Given the description of an element on the screen output the (x, y) to click on. 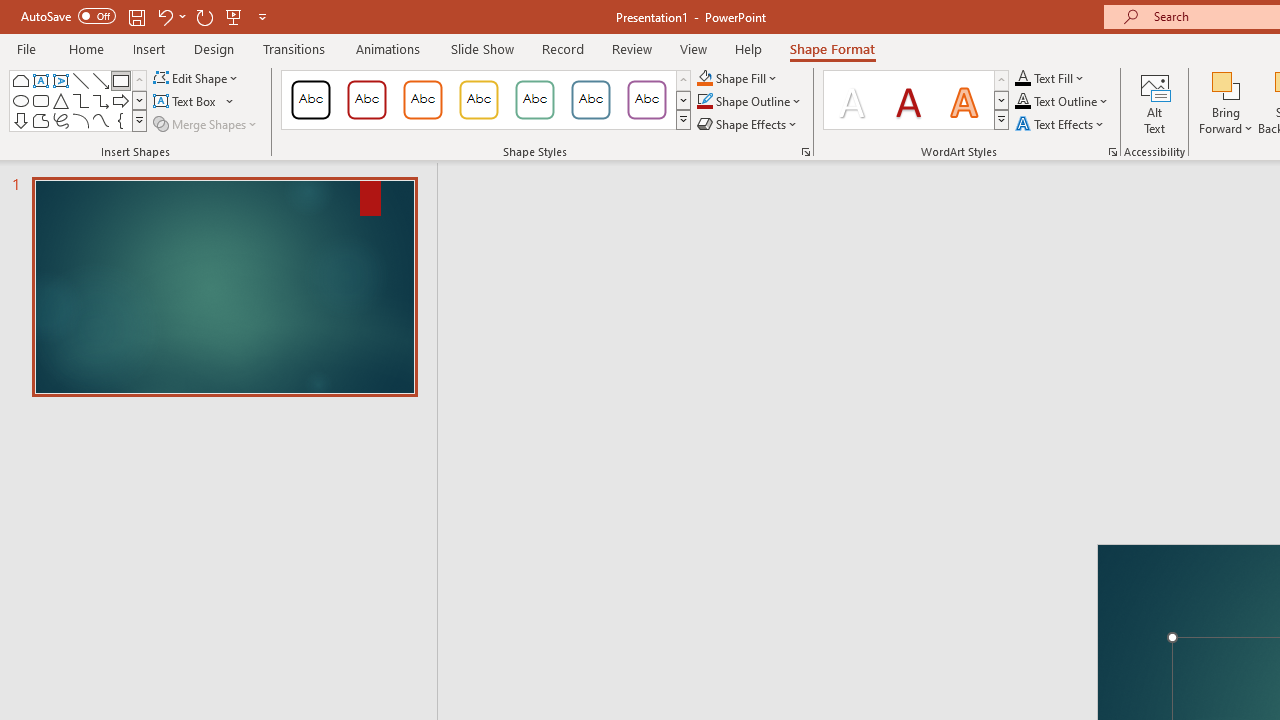
View (693, 48)
Quick Styles (1001, 120)
Shape Effects (748, 124)
Draw Horizontal Text Box (185, 101)
Bring Forward (1225, 102)
Curve (100, 120)
Line Arrow (100, 80)
Colored Outline - Black, Dark 1 (310, 100)
Format Object... (805, 151)
Animations (388, 48)
Line (80, 80)
Text Effects (1061, 124)
